Given the description of an element on the screen output the (x, y) to click on. 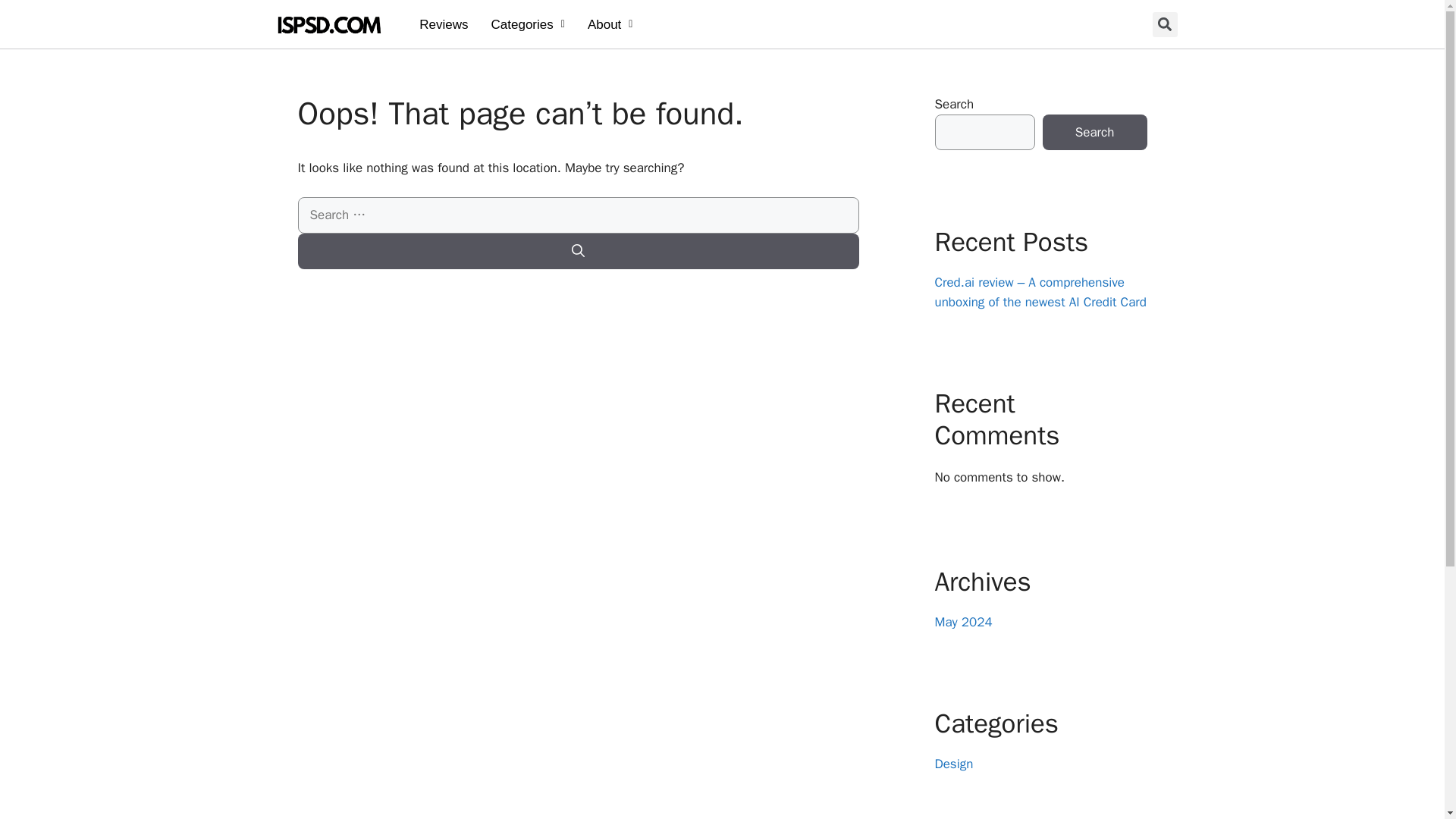
Categories (528, 24)
Design (574, 52)
About (610, 24)
Reviews (443, 24)
Assistant (570, 78)
Search for: (578, 215)
Audio (569, 105)
